Given the description of an element on the screen output the (x, y) to click on. 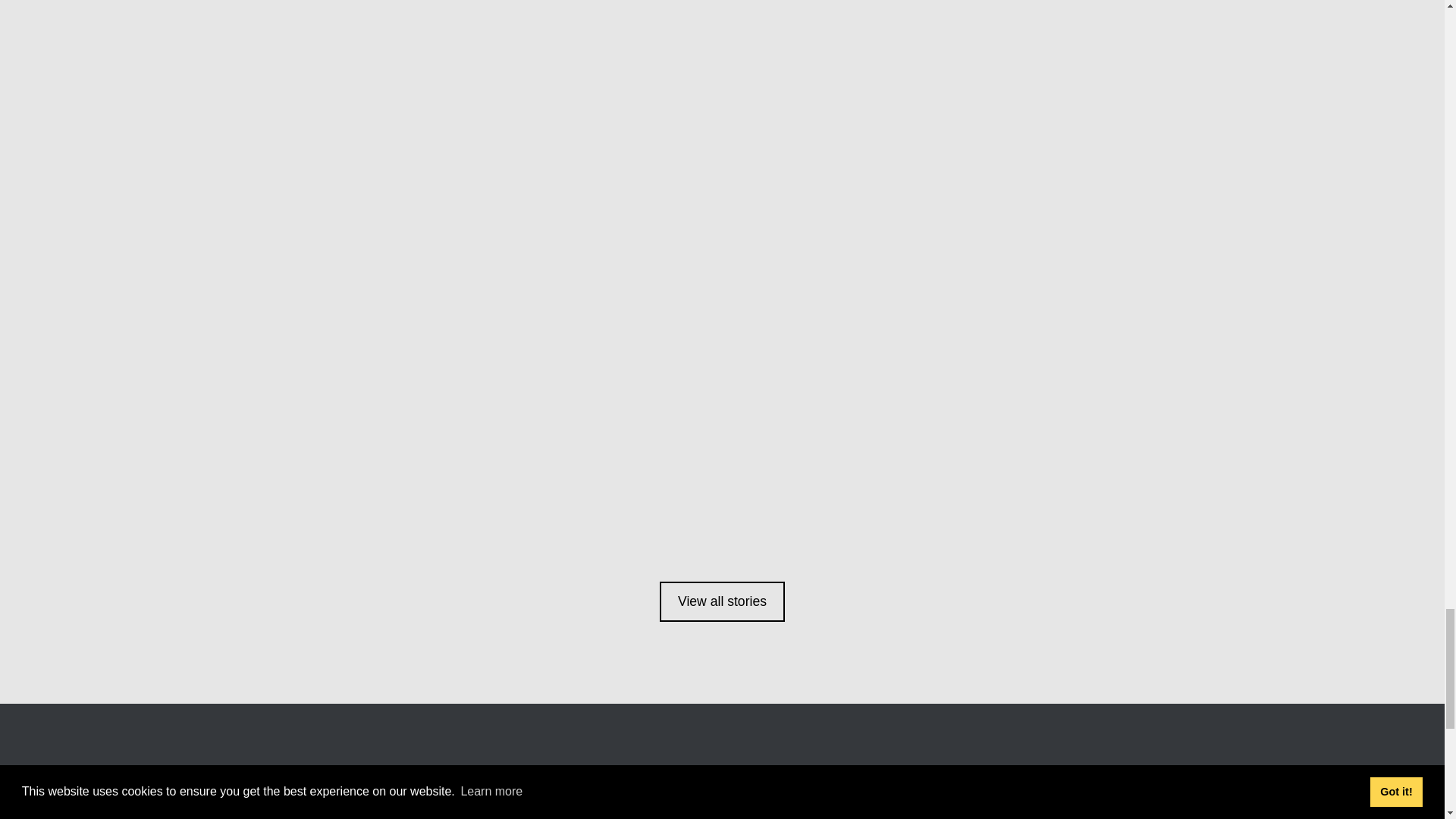
View all stories (721, 601)
